Given the description of an element on the screen output the (x, y) to click on. 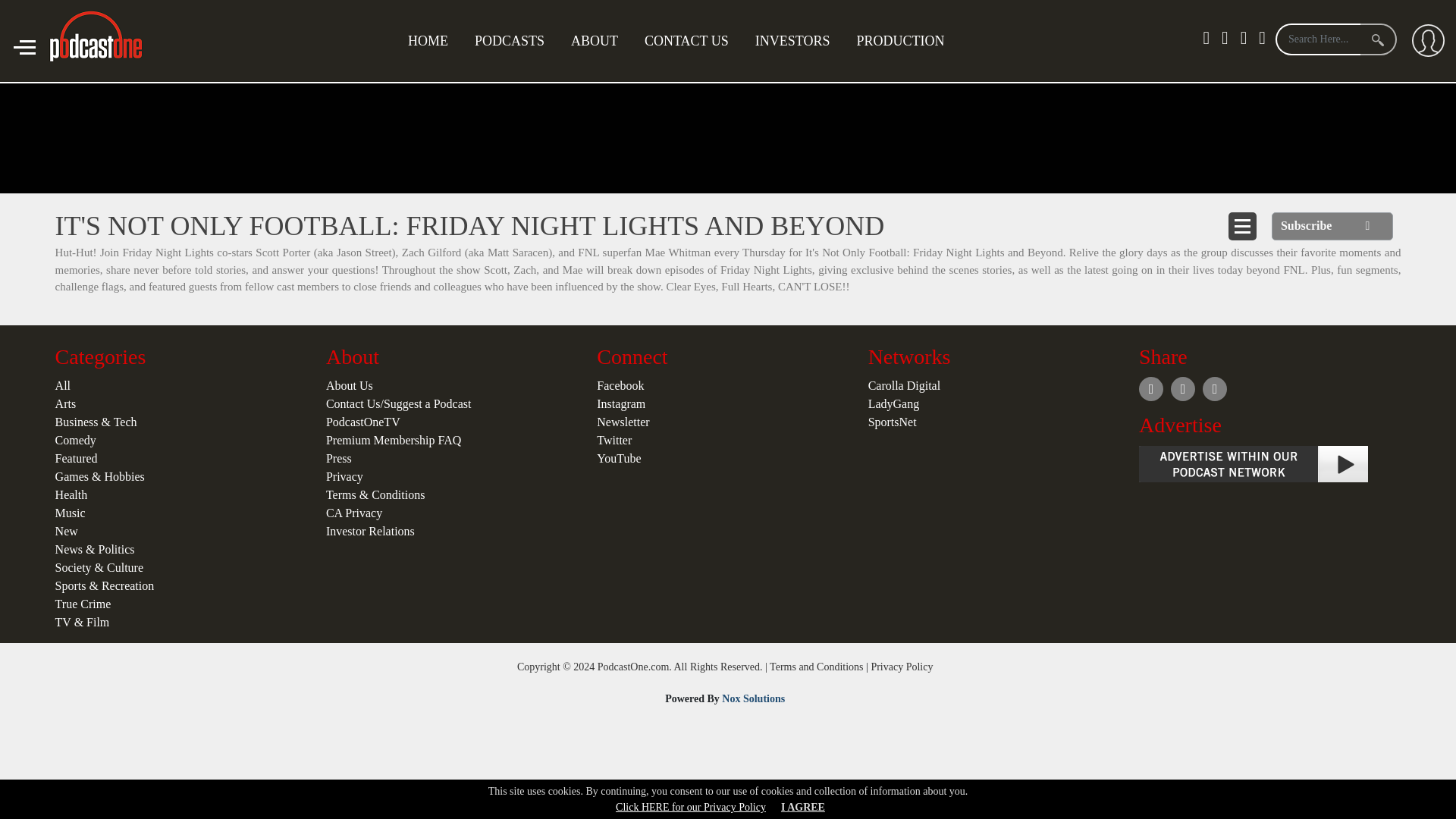
PODCASTS (509, 40)
ABOUT (593, 40)
HOME (428, 40)
INVESTORS (792, 40)
PRODUCTION (899, 40)
All (62, 385)
Arts (66, 403)
CONTACT US (686, 40)
Subscribe (1332, 226)
